Given the description of an element on the screen output the (x, y) to click on. 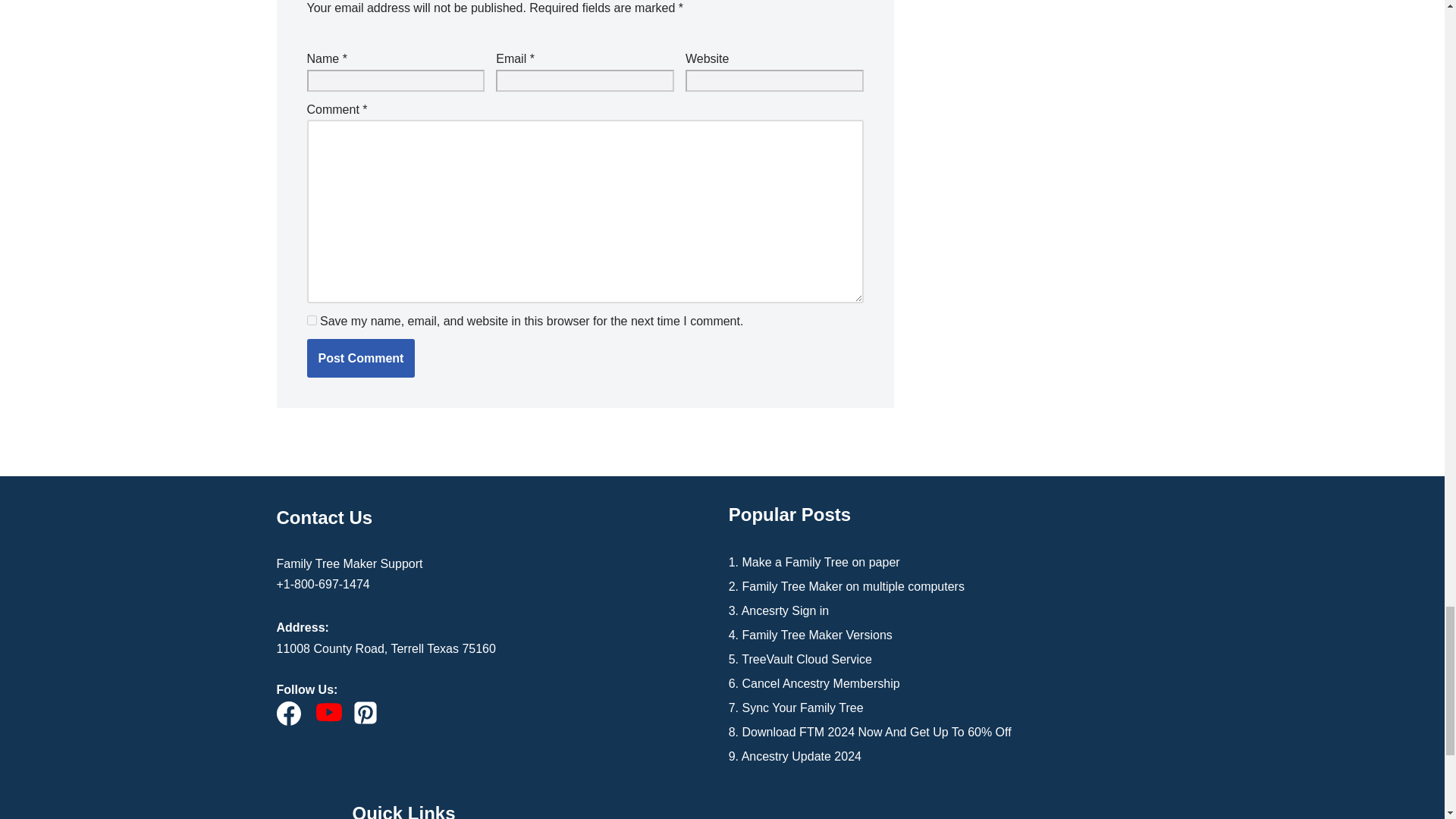
Post Comment (359, 358)
Pinterest (365, 712)
Facebook (287, 713)
yes (310, 320)
